Given the description of an element on the screen output the (x, y) to click on. 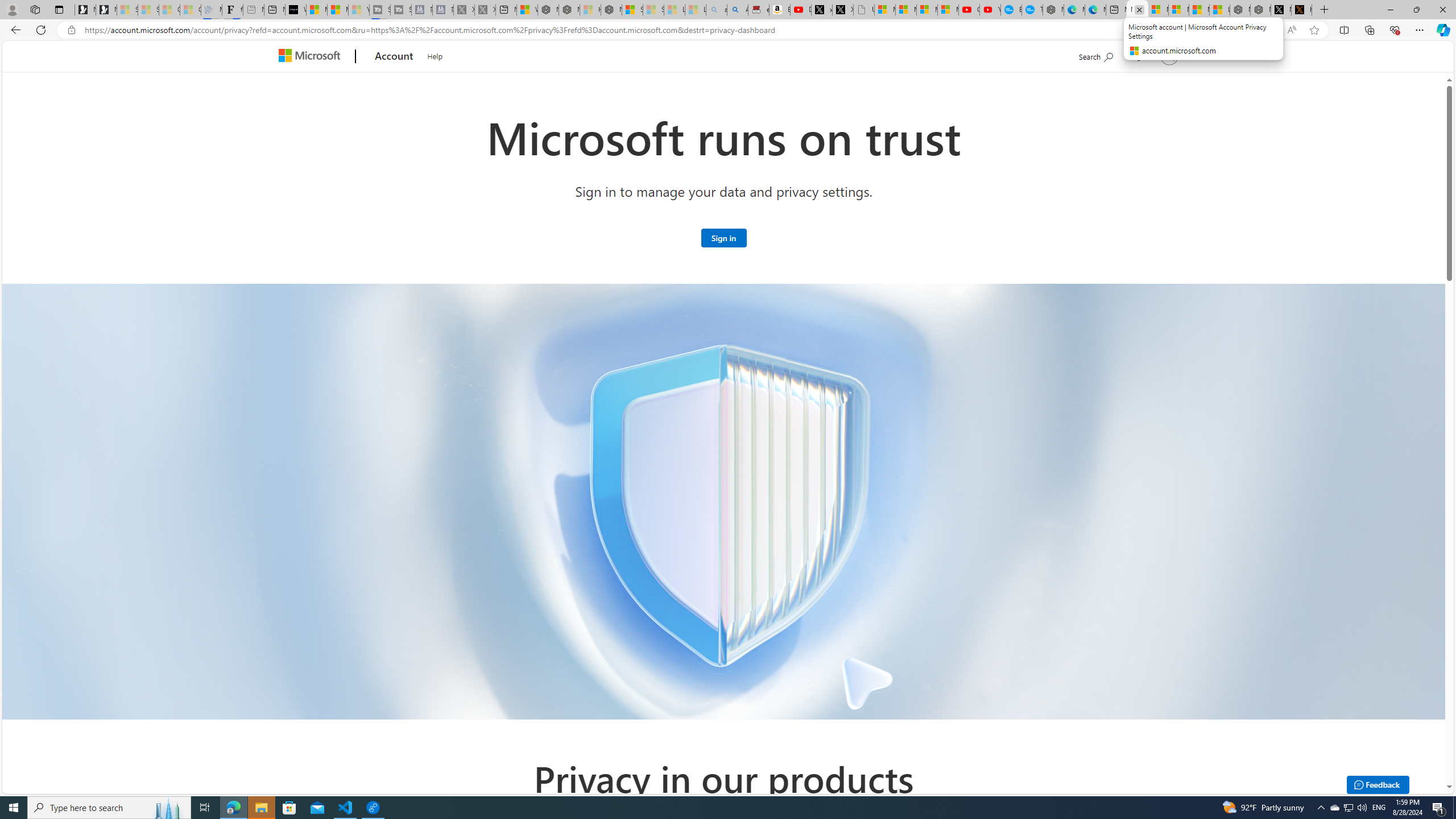
Nordace - Summer Adventures 2024 (1259, 9)
Microsoft Start (1198, 9)
Personal Profile (12, 9)
Day 1: Arriving in Yemen (surreal to be here) - YouTube (800, 9)
Streaming Coverage | T3 - Sleeping (379, 9)
Microsoft account | Privacy (1178, 9)
Amazon Echo Dot PNG - Search Images (737, 9)
Gloom - YouTube (968, 9)
New tab (1115, 9)
